Given the description of an element on the screen output the (x, y) to click on. 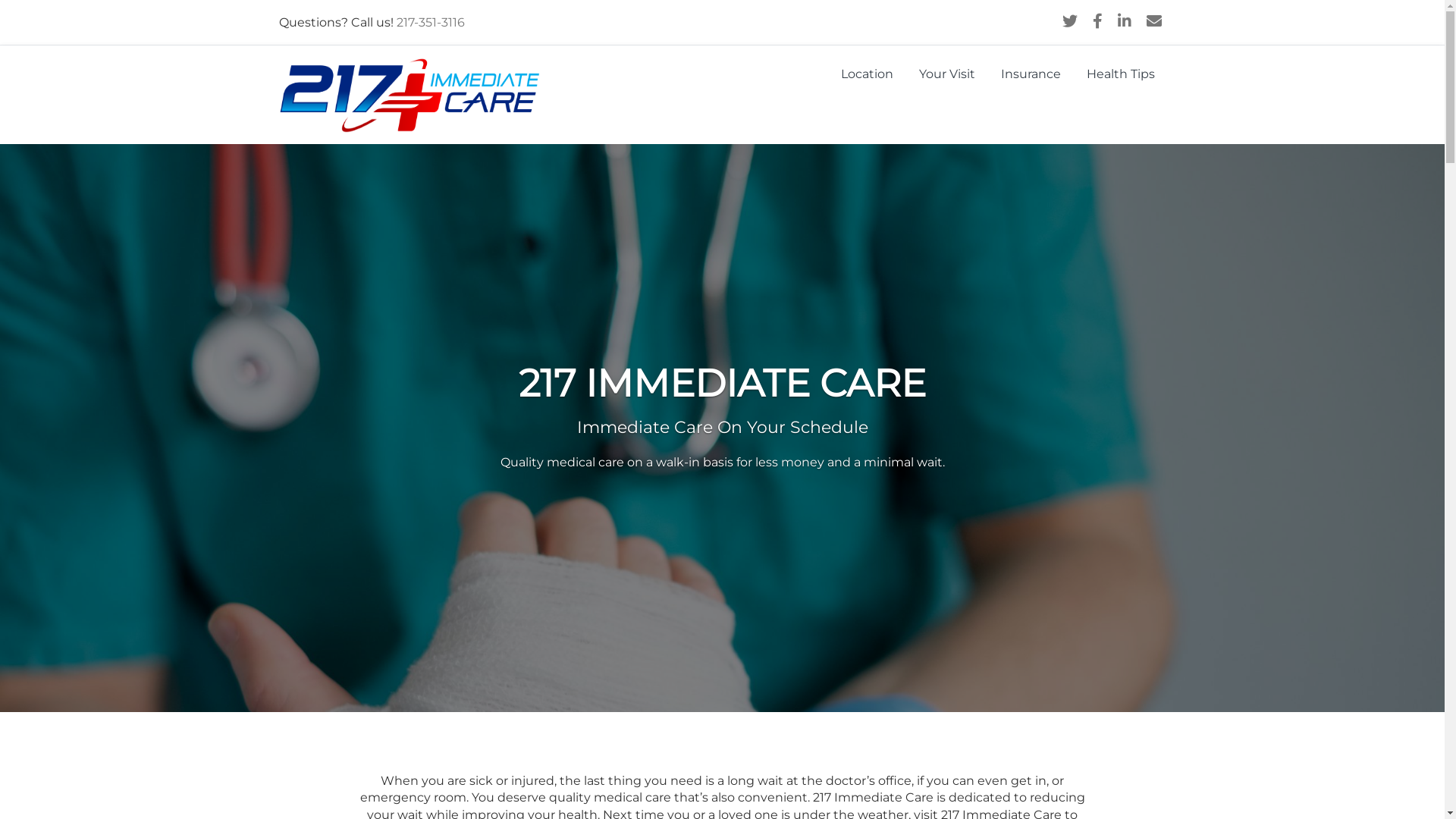
217-351-3116 Element type: text (429, 22)
Location Element type: text (866, 74)
217 IMMEDIATE CARE Element type: text (418, 109)
Health Tips Element type: text (1120, 74)
Skip to primary navigation Element type: text (0, 0)
Insurance Element type: text (1029, 74)
Your Visit Element type: text (945, 74)
